Given the description of an element on the screen output the (x, y) to click on. 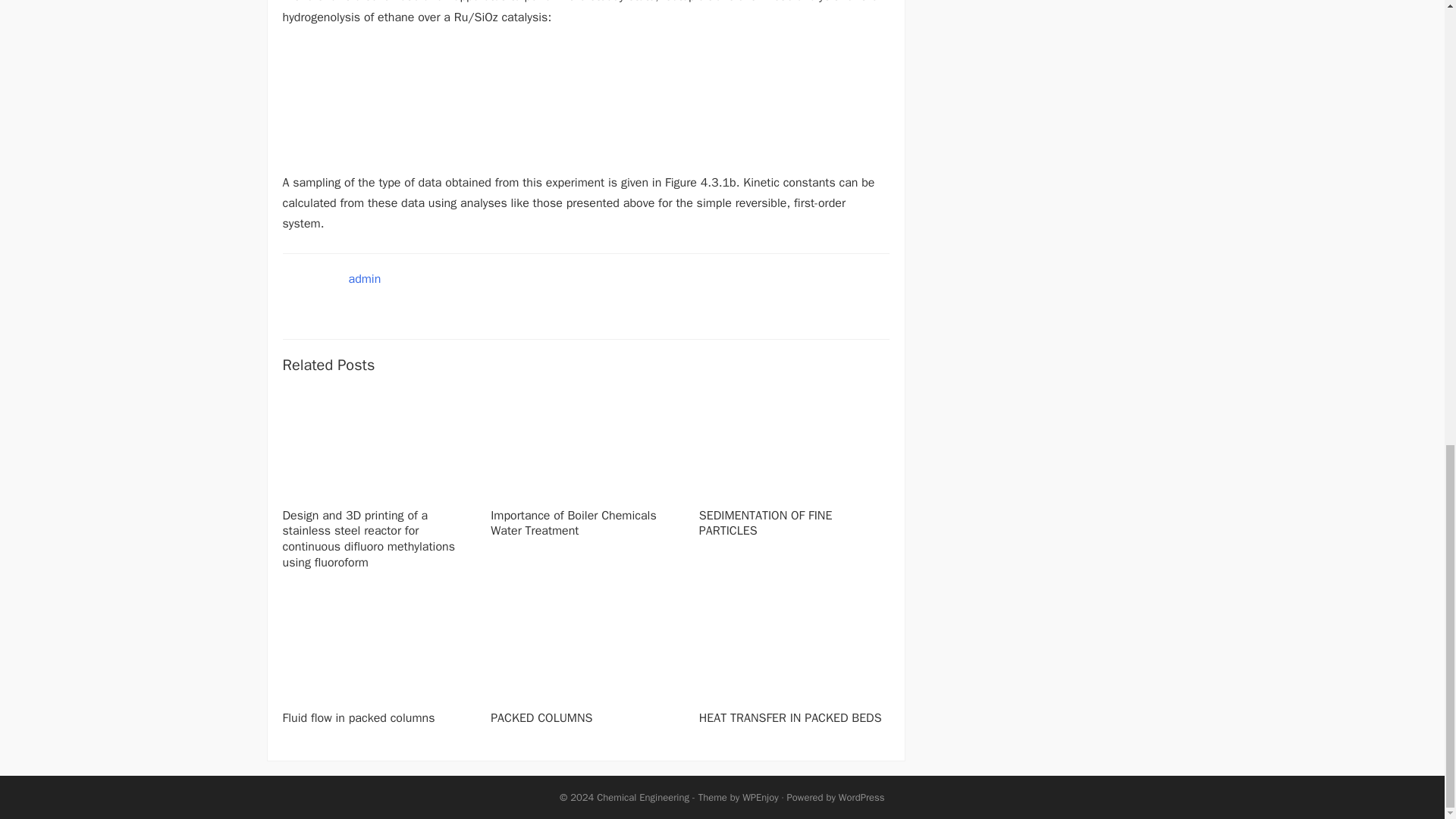
Chemical Engineering (642, 797)
PACKED COLUMNS (541, 717)
Fluid flow in packed columns (357, 717)
SEDIMENTATION OF FINE PARTICLES (765, 522)
WordPress (861, 797)
Importance of Boiler Chemicals Water Treatment (573, 522)
HEAT TRANSFER IN PACKED BEDS (790, 717)
WPEnjoy (760, 797)
admin (365, 278)
